Given the description of an element on the screen output the (x, y) to click on. 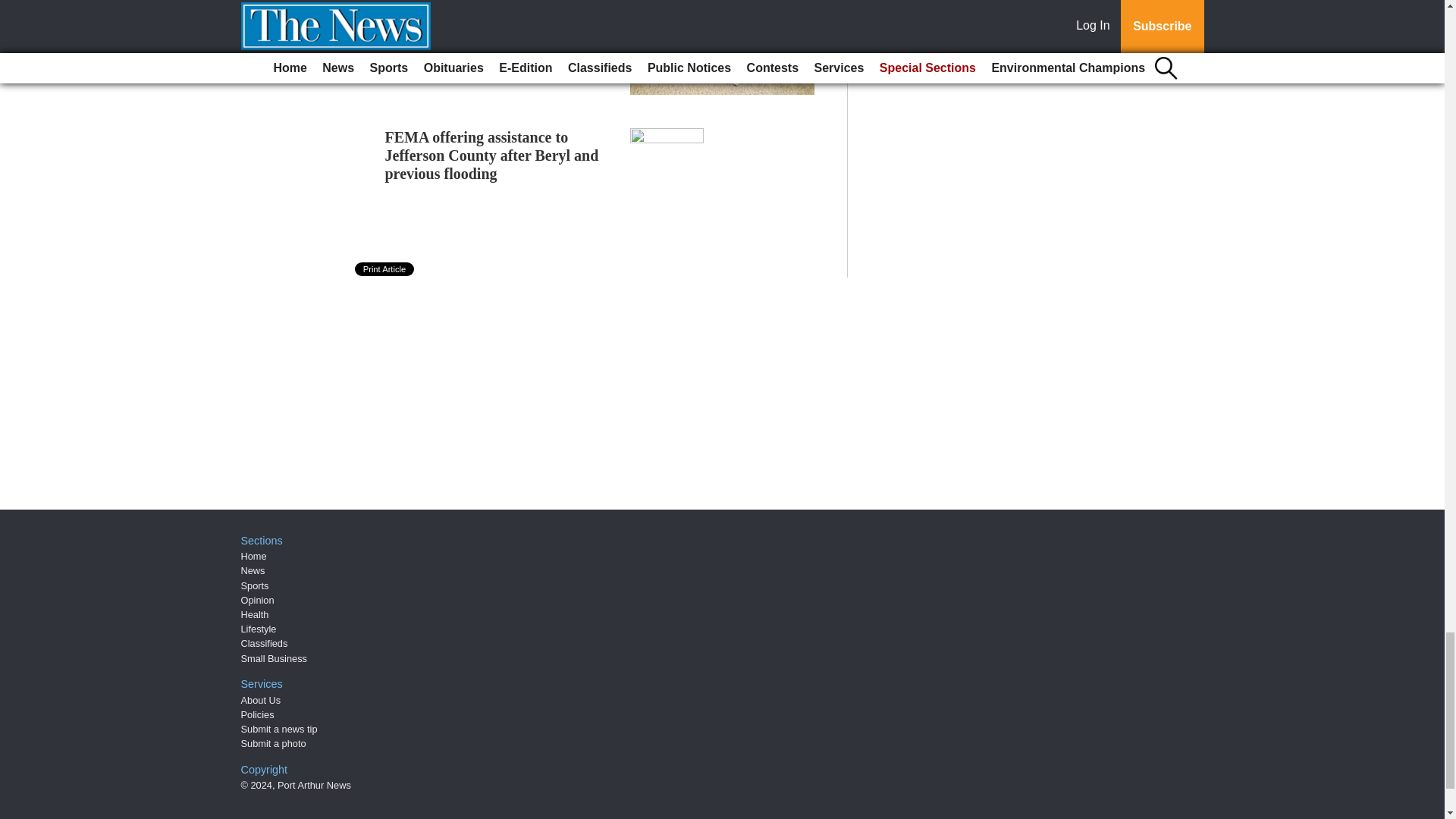
Print Article (384, 269)
Local, area students return from Camp DASH (490, 14)
Local, area students return from Camp DASH (490, 14)
